Given the description of an element on the screen output the (x, y) to click on. 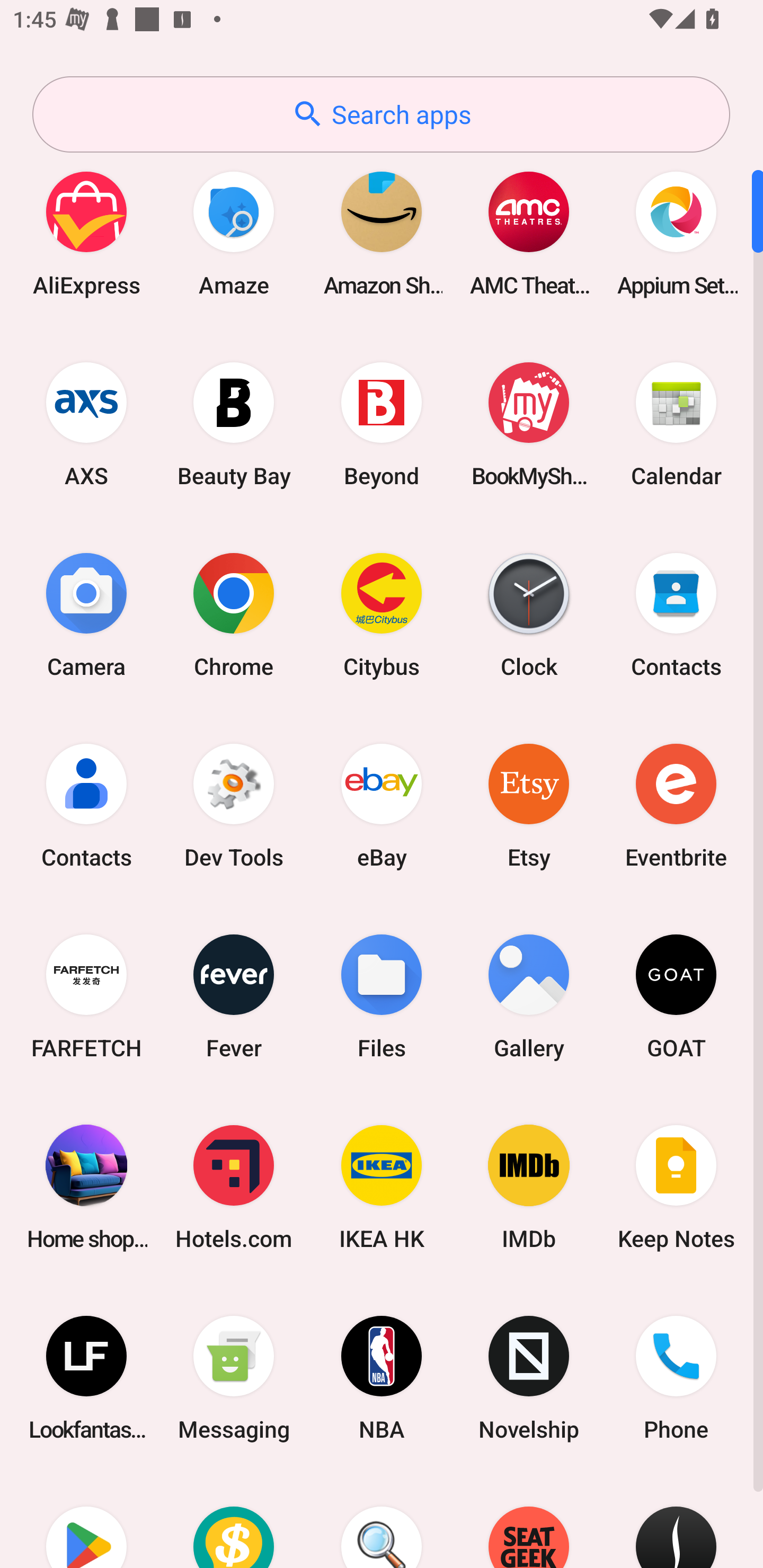
  Search apps (381, 114)
AliExpress (86, 233)
Amaze (233, 233)
Amazon Shopping (381, 233)
AMC Theatres (528, 233)
Appium Settings (676, 233)
AXS (86, 424)
Beauty Bay (233, 424)
Beyond (381, 424)
BookMyShow (528, 424)
Calendar (676, 424)
Camera (86, 614)
Chrome (233, 614)
Citybus (381, 614)
Clock (528, 614)
Contacts (676, 614)
Contacts (86, 805)
Dev Tools (233, 805)
eBay (381, 805)
Etsy (528, 805)
Eventbrite (676, 805)
FARFETCH (86, 996)
Fever (233, 996)
Files (381, 996)
Gallery (528, 996)
GOAT (676, 996)
Home shopping (86, 1186)
Hotels.com (233, 1186)
IKEA HK (381, 1186)
IMDb (528, 1186)
Keep Notes (676, 1186)
Lookfantastic (86, 1377)
Messaging (233, 1377)
NBA (381, 1377)
Novelship (528, 1377)
Phone (676, 1377)
